Given the description of an element on the screen output the (x, y) to click on. 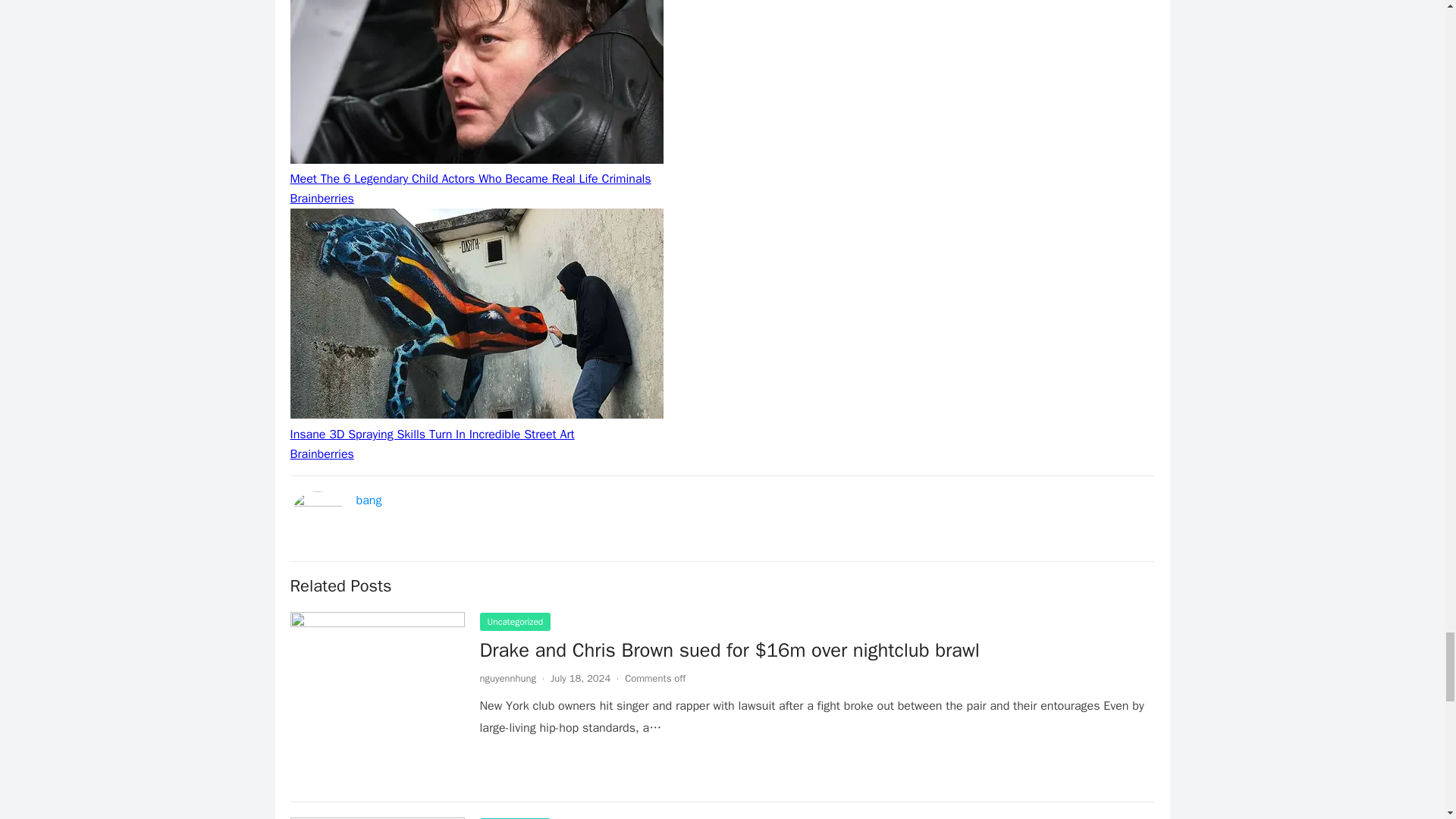
Posts by nguyennhung (507, 677)
